Given the description of an element on the screen output the (x, y) to click on. 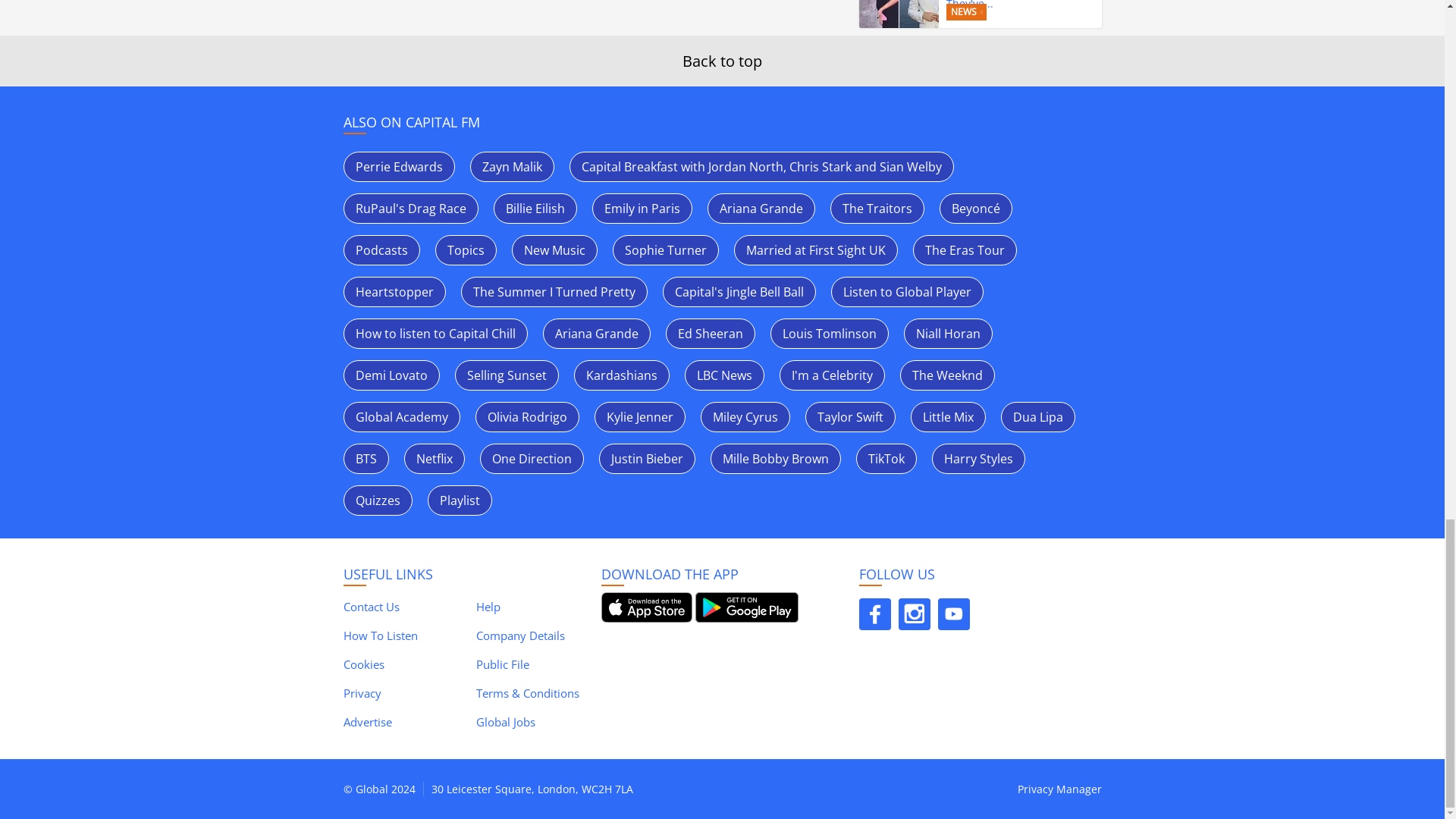
Follow Capital on Facebook (874, 613)
Back to top (721, 60)
Follow Capital on Instagram (914, 613)
Follow Capital on Youtube (953, 613)
